Given the description of an element on the screen output the (x, y) to click on. 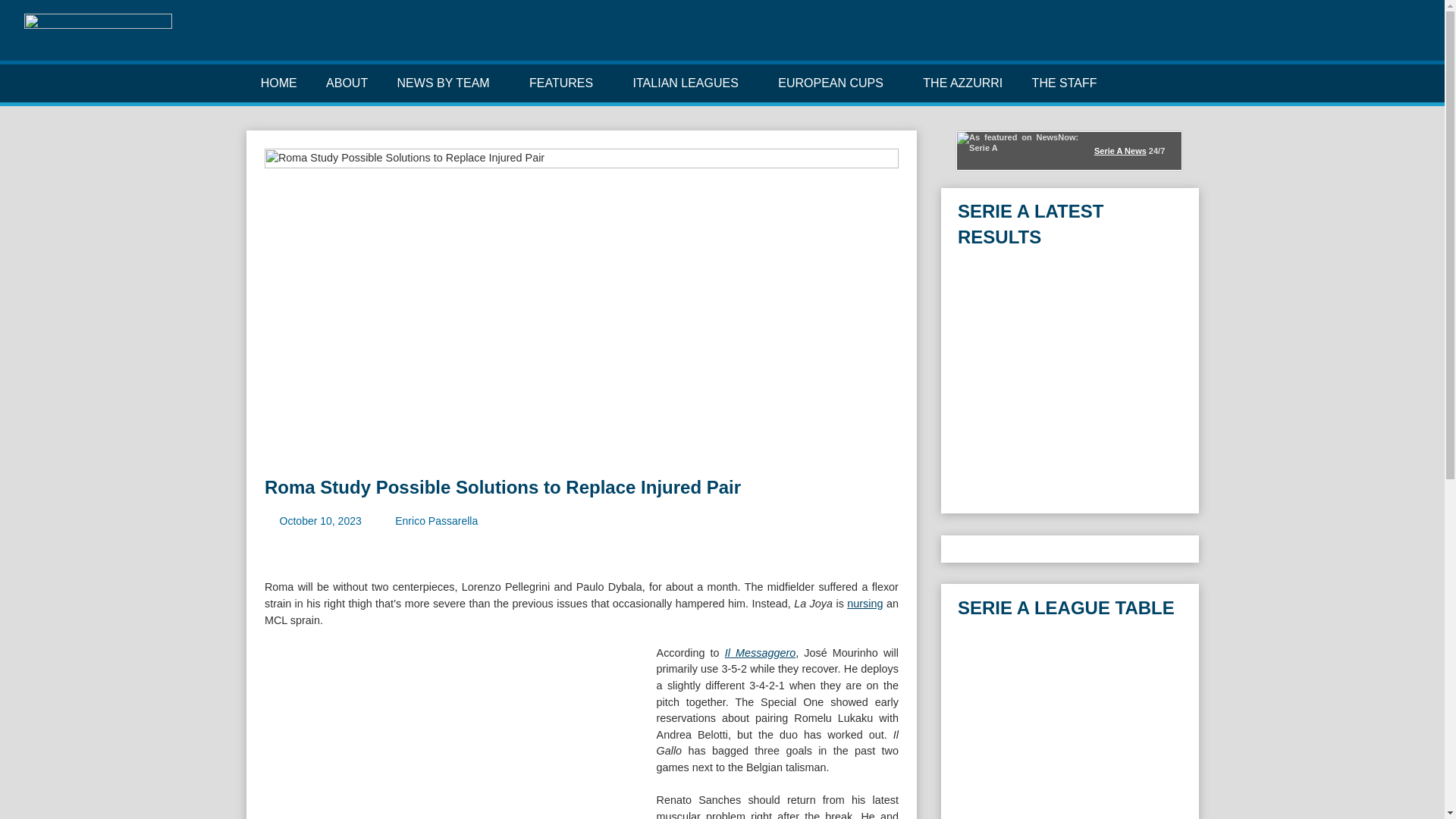
THE AZZURRI (962, 83)
View all posts by Enrico Passarella (435, 521)
Search (1189, 83)
THE STAFF (1063, 83)
HOME (278, 83)
EUROPEAN CUPS (835, 83)
Twitter (1339, 39)
11:30 am (320, 521)
ABOUT (346, 83)
NEWS BY TEAM (447, 83)
RSS Feed (1409, 39)
ITALIAN LEAGUES (689, 83)
Instagram (1363, 39)
YouTube (1386, 39)
